Given the description of an element on the screen output the (x, y) to click on. 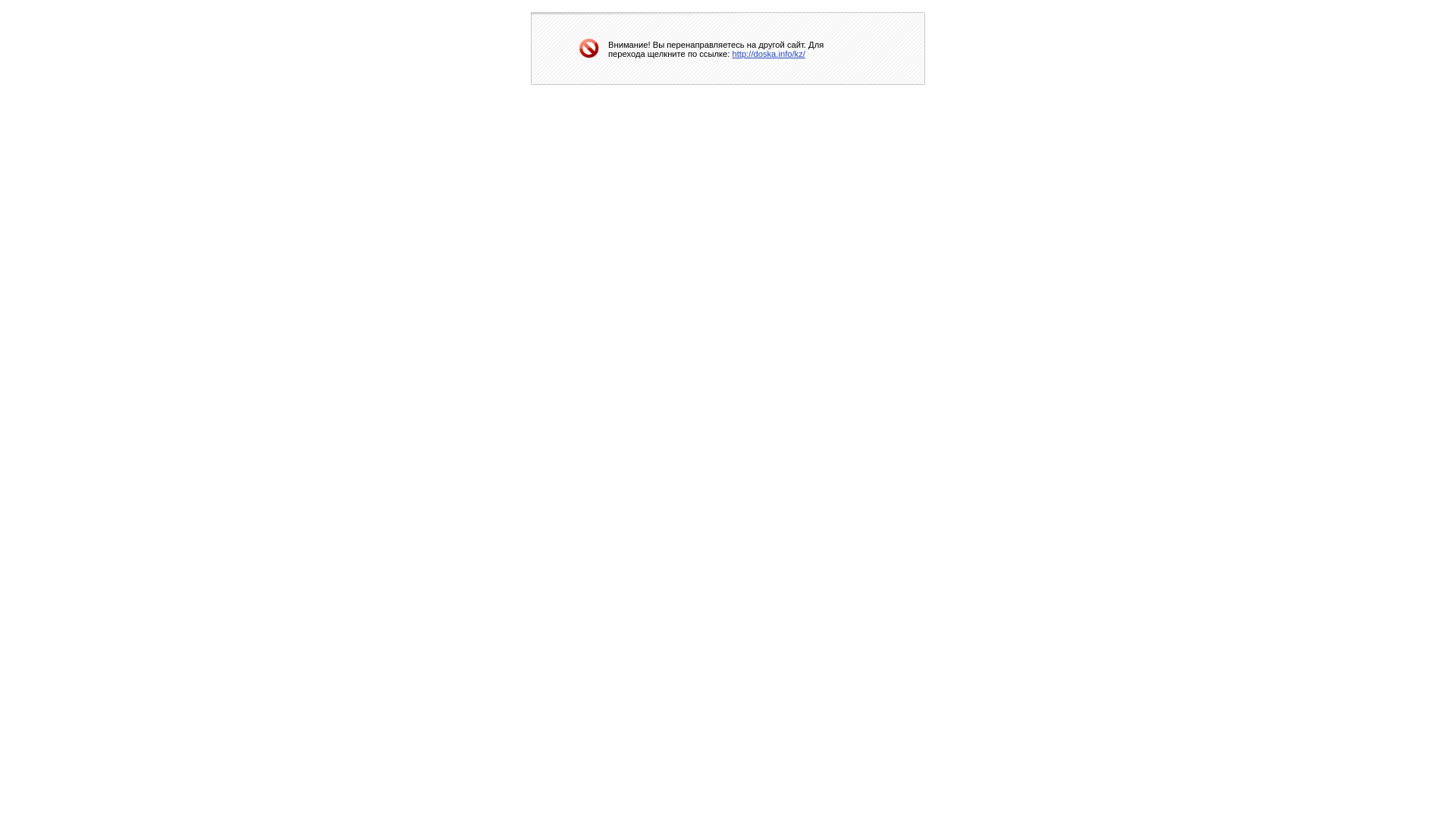
http://doska.info/kz/ Element type: text (768, 52)
